Given the description of an element on the screen output the (x, y) to click on. 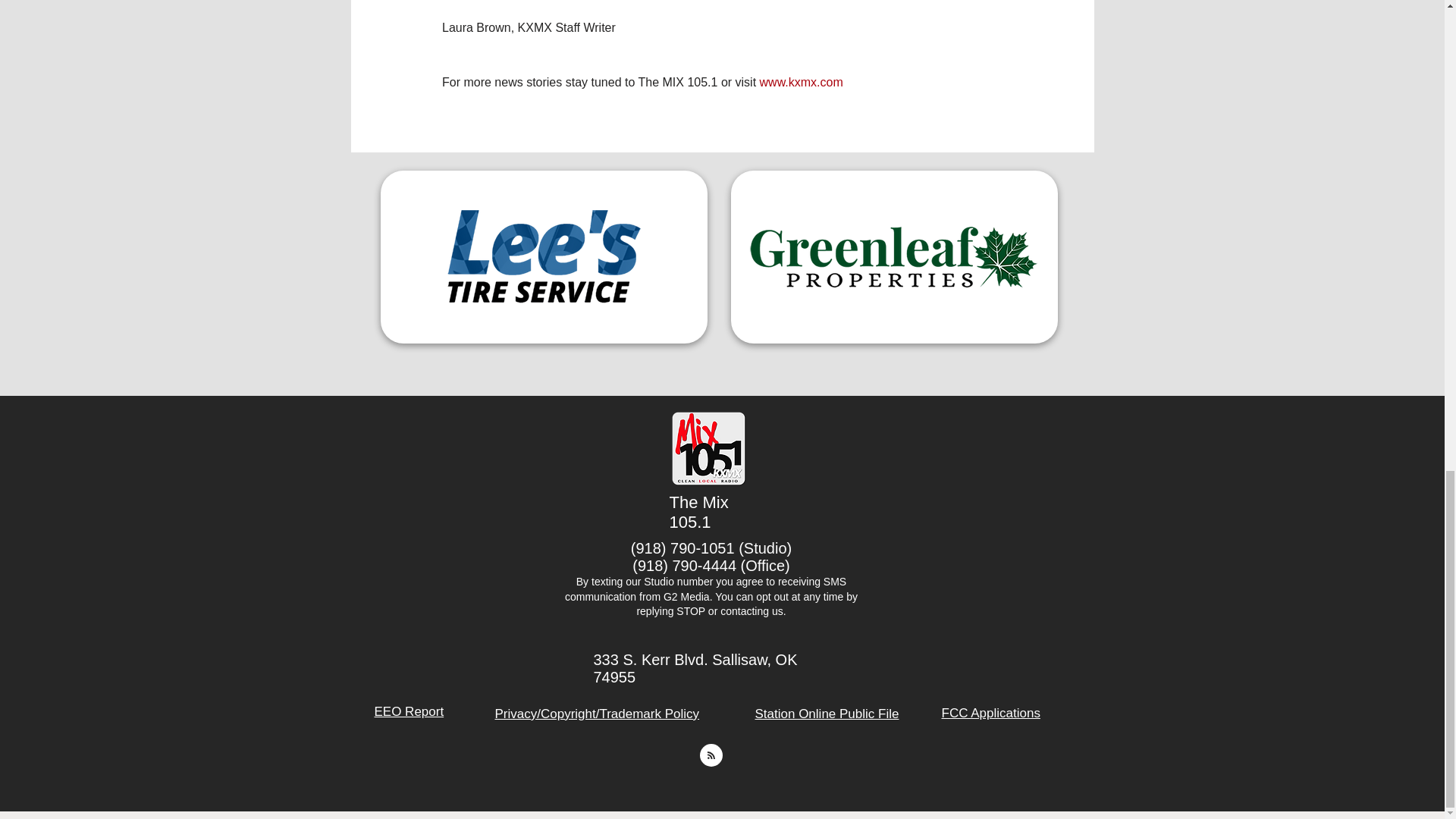
333 S. Kerr Blvd. Sallisaw, OK 74955 (694, 668)
Station Online Public File (827, 713)
 www.kxmx.com (799, 82)
FCC Applications (991, 712)
EEO Report (409, 711)
